Given the description of an element on the screen output the (x, y) to click on. 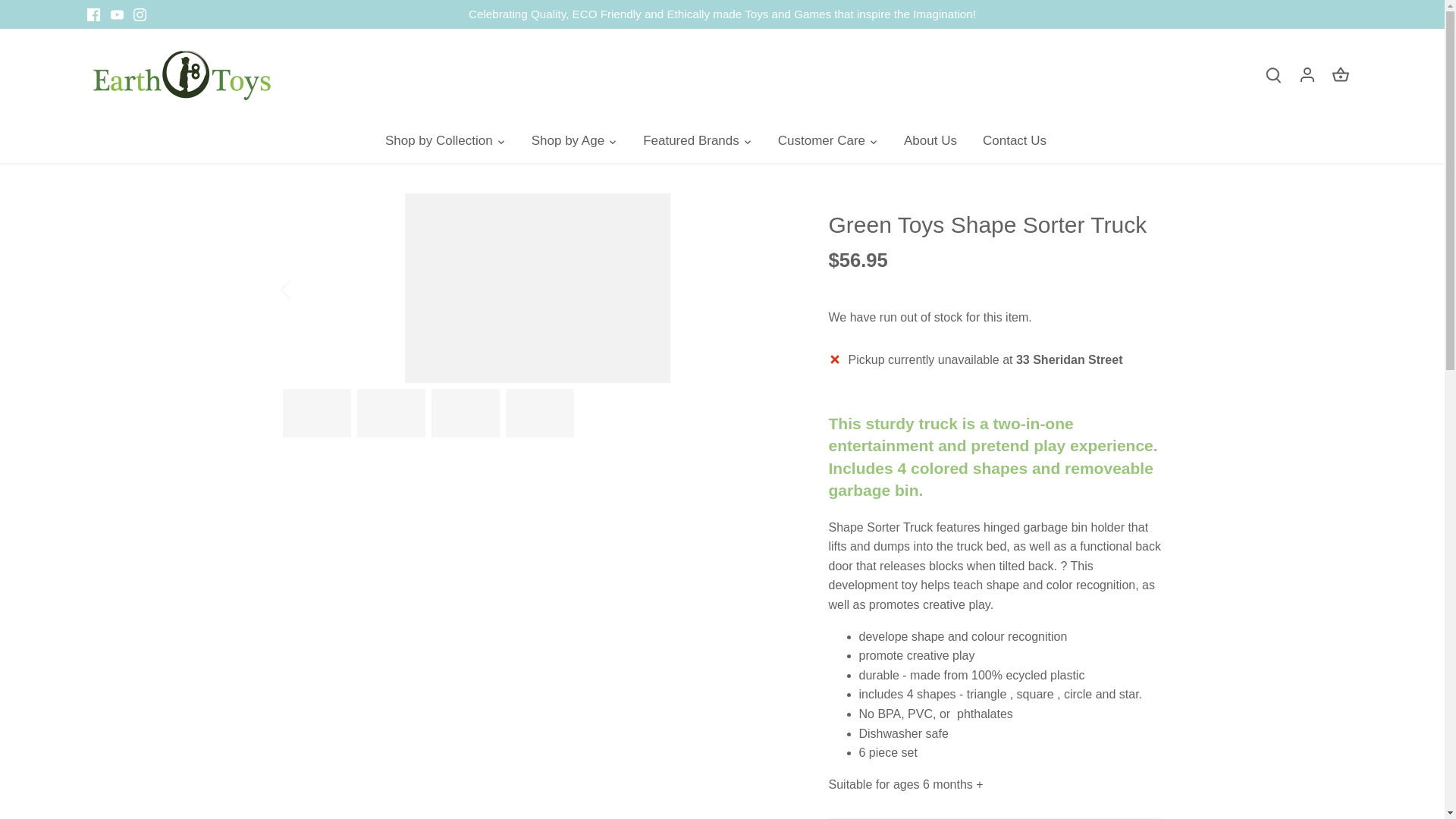
Facebook (93, 14)
Youtube (116, 14)
Instagram (140, 14)
Shop by Collection (445, 141)
